Given the description of an element on the screen output the (x, y) to click on. 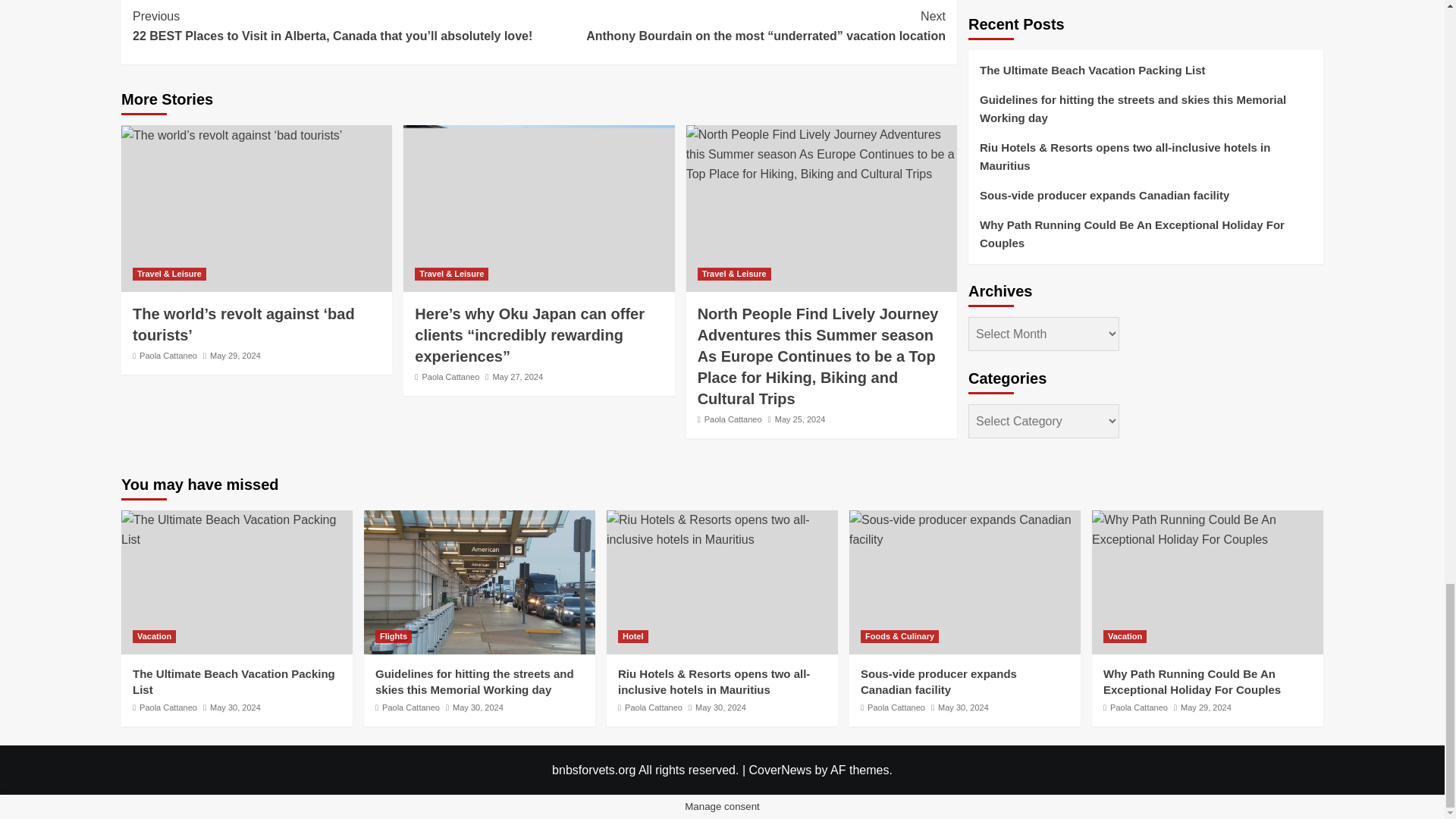
Sous-vide producer expands Canadian facility (964, 529)
The Ultimate Beach Vacation Packing List (236, 529)
Why Path Running Could Be An Exceptional Holiday For Couples (1207, 529)
